Given the description of an element on the screen output the (x, y) to click on. 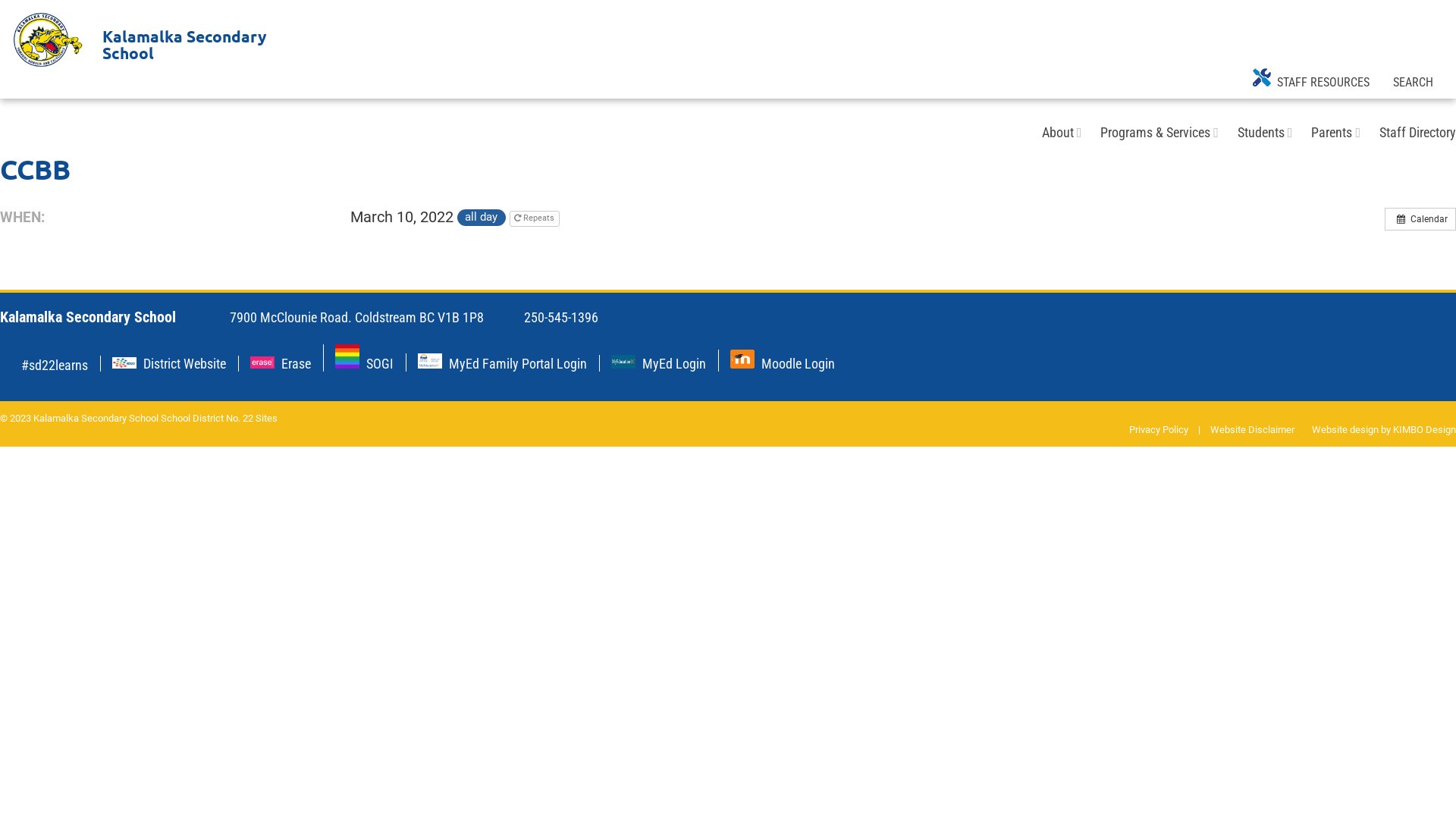
Website design Element type: text (1344, 429)
SOGI Element type: text (379, 363)
Students Element type: text (1260, 132)
MyEd Family Portal Login Element type: text (517, 363)
MyEd Login Element type: hover (623, 361)
Moodle Login Element type: text (797, 363)
Follow us on Twitter Element type: hover (6, 363)
Kalamalka Secondary School Element type: hover (47, 39)
MyEd Login Element type: text (674, 363)
Erase Element type: text (295, 363)
Kalamalka Secondary School Element type: text (150, 39)
250-545-1396 Element type: text (558, 317)
About Element type: text (1057, 132)
Erase  Element type: hover (262, 362)
Programs & Services Element type: text (1155, 132)
District Website Element type: hover (124, 362)
Parents Element type: text (1331, 132)
Repeats Element type: text (534, 218)
MyEd Family Portal Login Element type: hover (429, 360)
Privacy Policy Element type: text (1158, 429)
#sd22learns Element type: text (54, 365)
SOGI  Element type: hover (347, 356)
District Website Element type: text (184, 363)
Website Disclaimer Element type: text (1252, 429)
Moodle Login Element type: hover (742, 358)
